Given the description of an element on the screen output the (x, y) to click on. 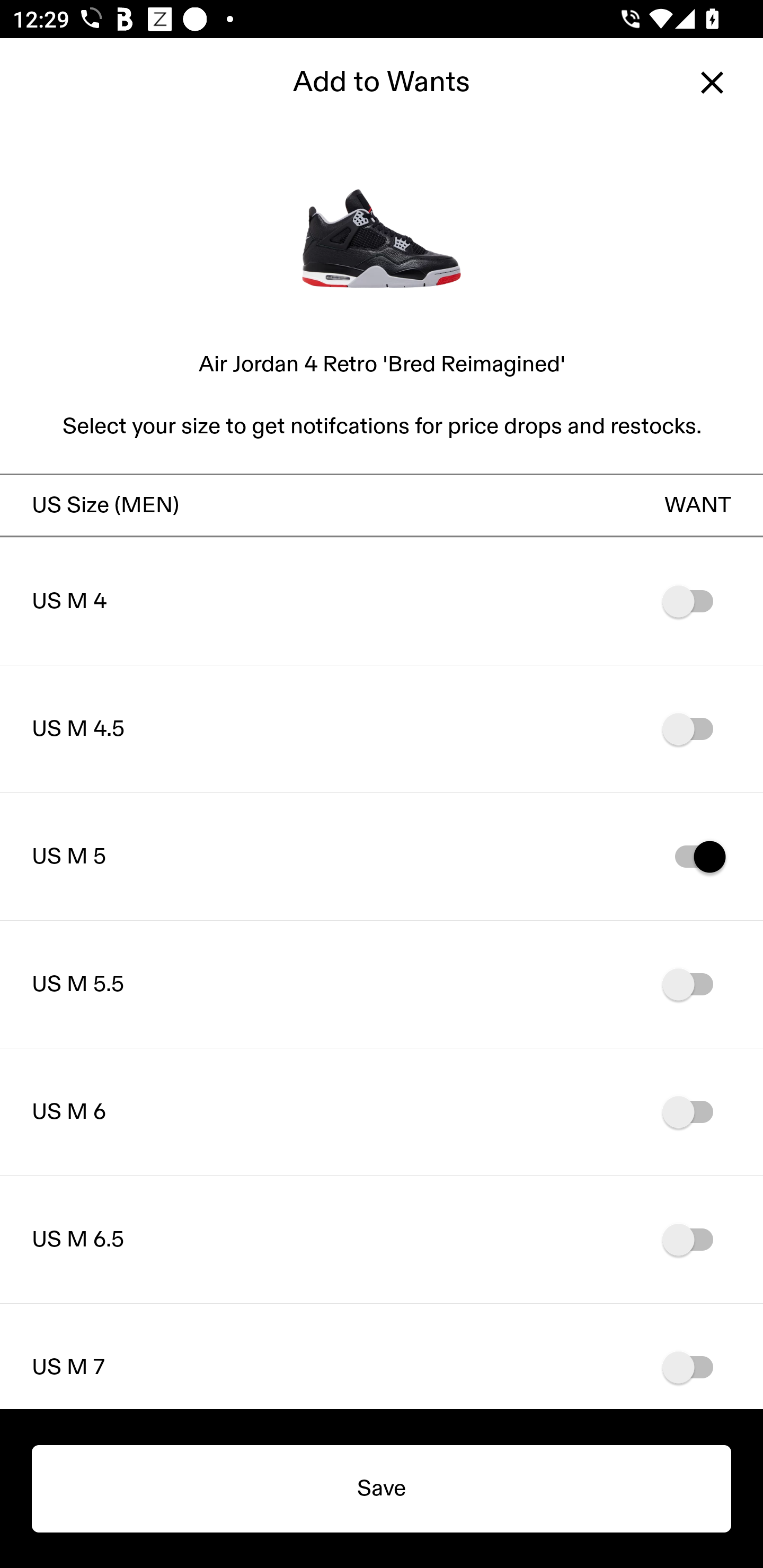
Save (381, 1488)
